Given the description of an element on the screen output the (x, y) to click on. 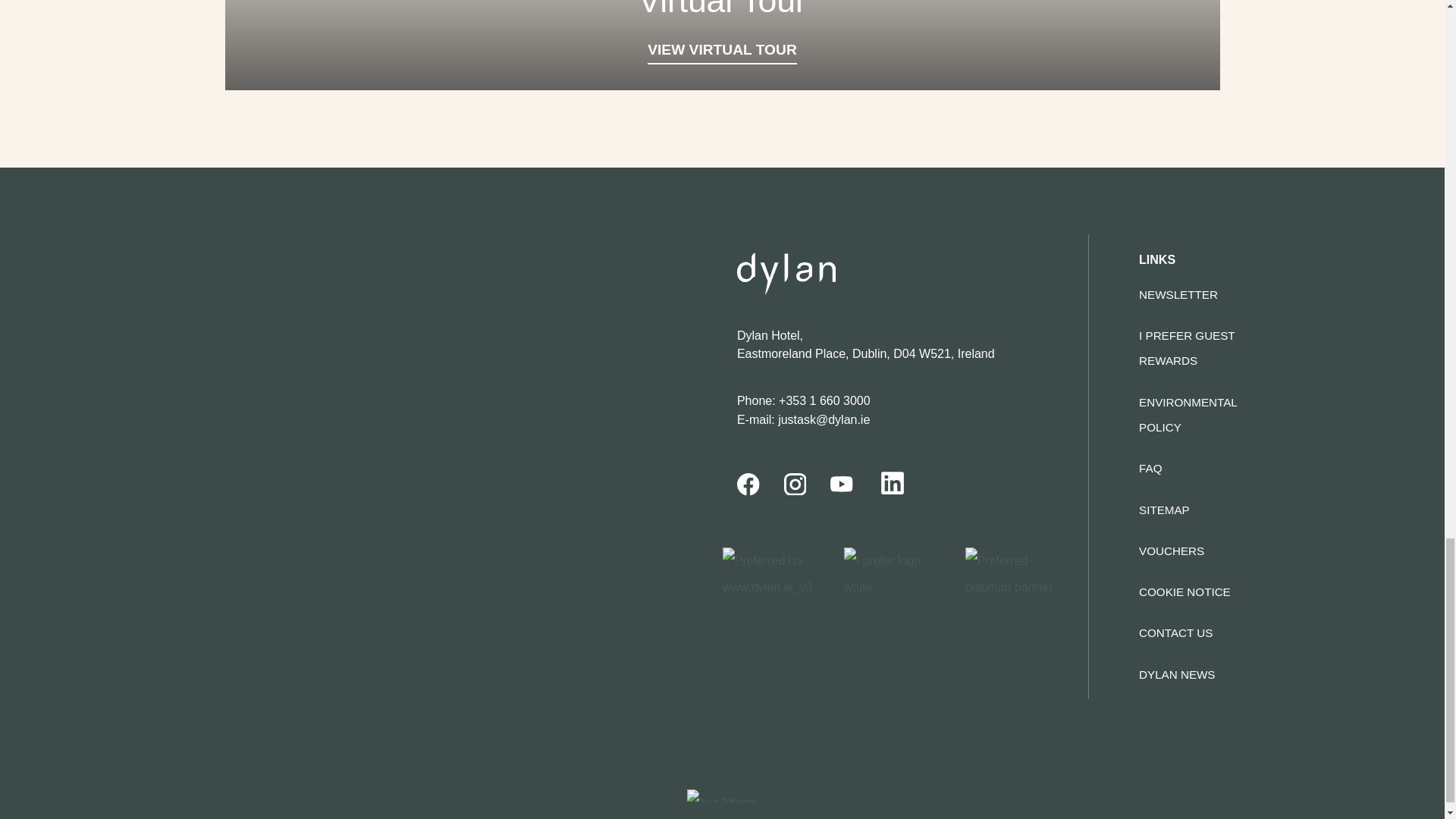
ENVIRONMENTAL POLICY (1187, 414)
FAQ (1149, 468)
NEWSLETTER (1177, 294)
VIEW VIRTUAL TOUR (721, 52)
I PREFER GUEST REWARDS (1186, 347)
